Given the description of an element on the screen output the (x, y) to click on. 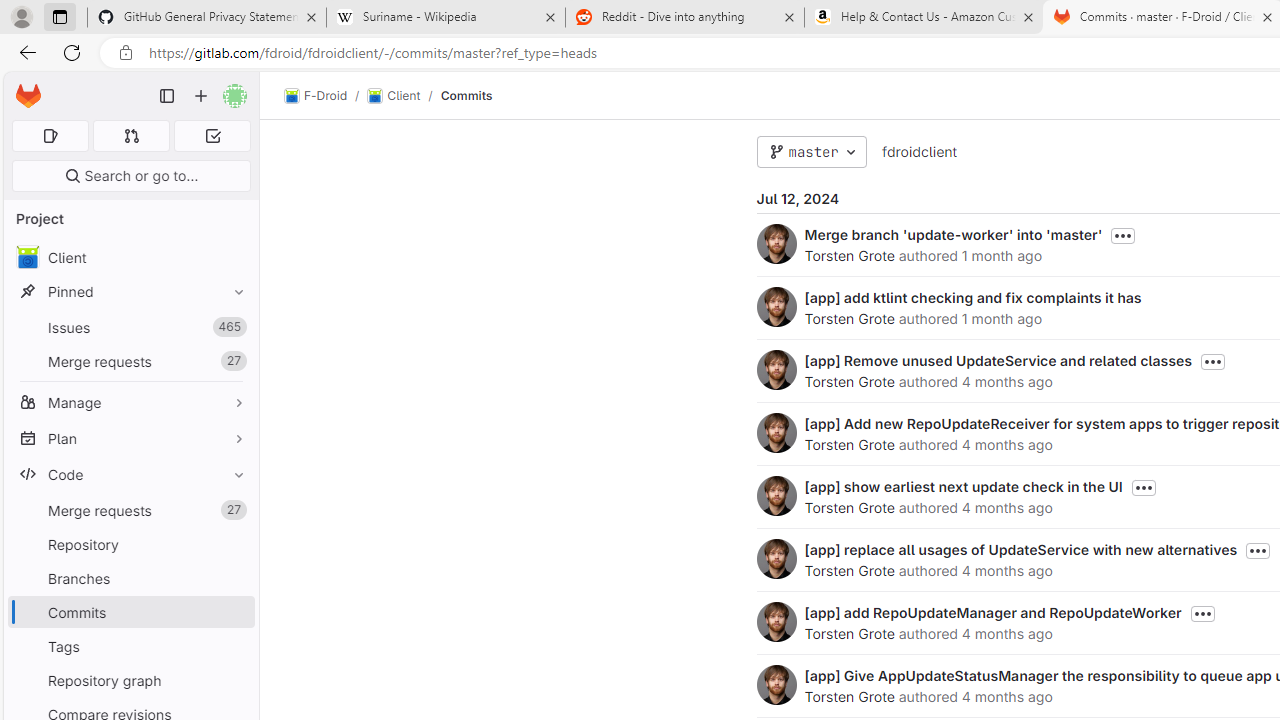
Merge requests 27 (130, 510)
Code (130, 474)
View site information (125, 53)
Issues 465 (130, 327)
Branches (130, 578)
Plan (130, 438)
Plan (130, 438)
Unpin Merge requests (234, 510)
Pin Commits (234, 611)
[app] add ktlint checking and fix complaints it has (972, 297)
Pin Repository graph (234, 680)
Merge branch 'update-worker' into 'master' (953, 234)
Tab actions menu (59, 16)
